Given the description of an element on the screen output the (x, y) to click on. 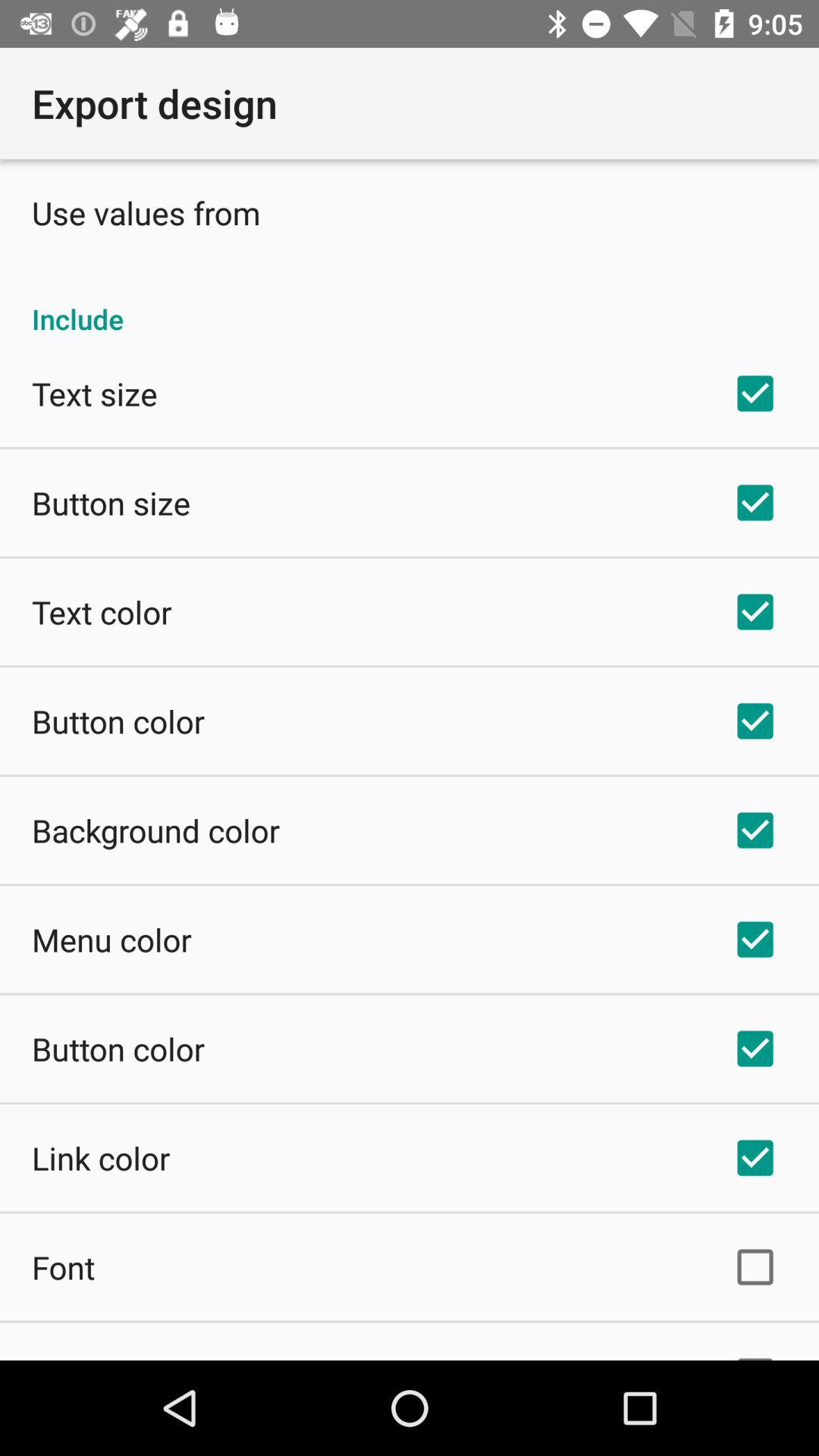
launch item below the button color item (100, 1157)
